Given the description of an element on the screen output the (x, y) to click on. 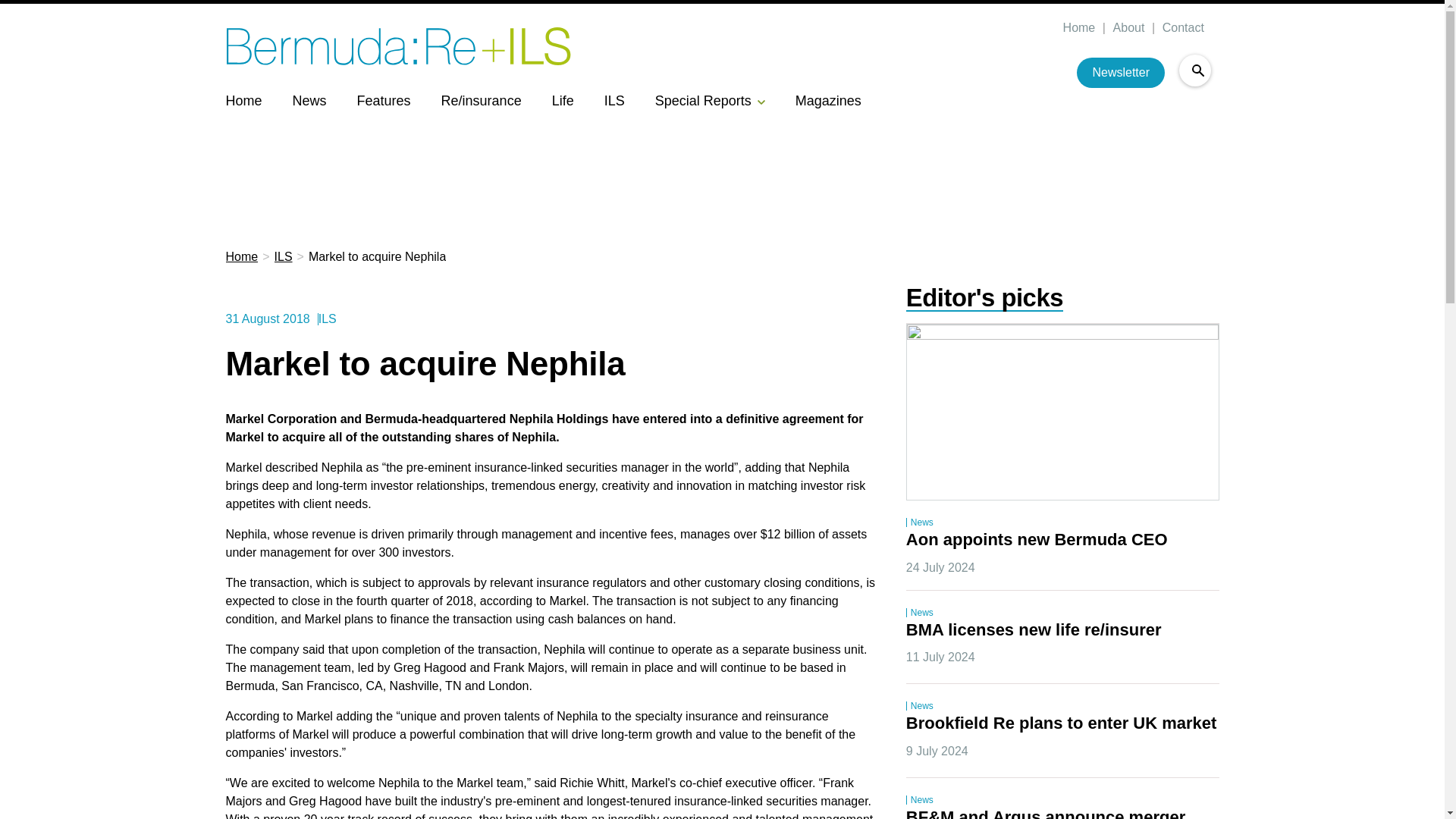
Home (1078, 28)
Home (243, 100)
Newsletter (1120, 72)
Brookfield Re plans to enter UK market (1061, 723)
Life (562, 100)
Home (242, 257)
Aon appoints new Bermuda CEO (1036, 540)
Contact (1181, 28)
ILS (283, 257)
News (309, 100)
